Given the description of an element on the screen output the (x, y) to click on. 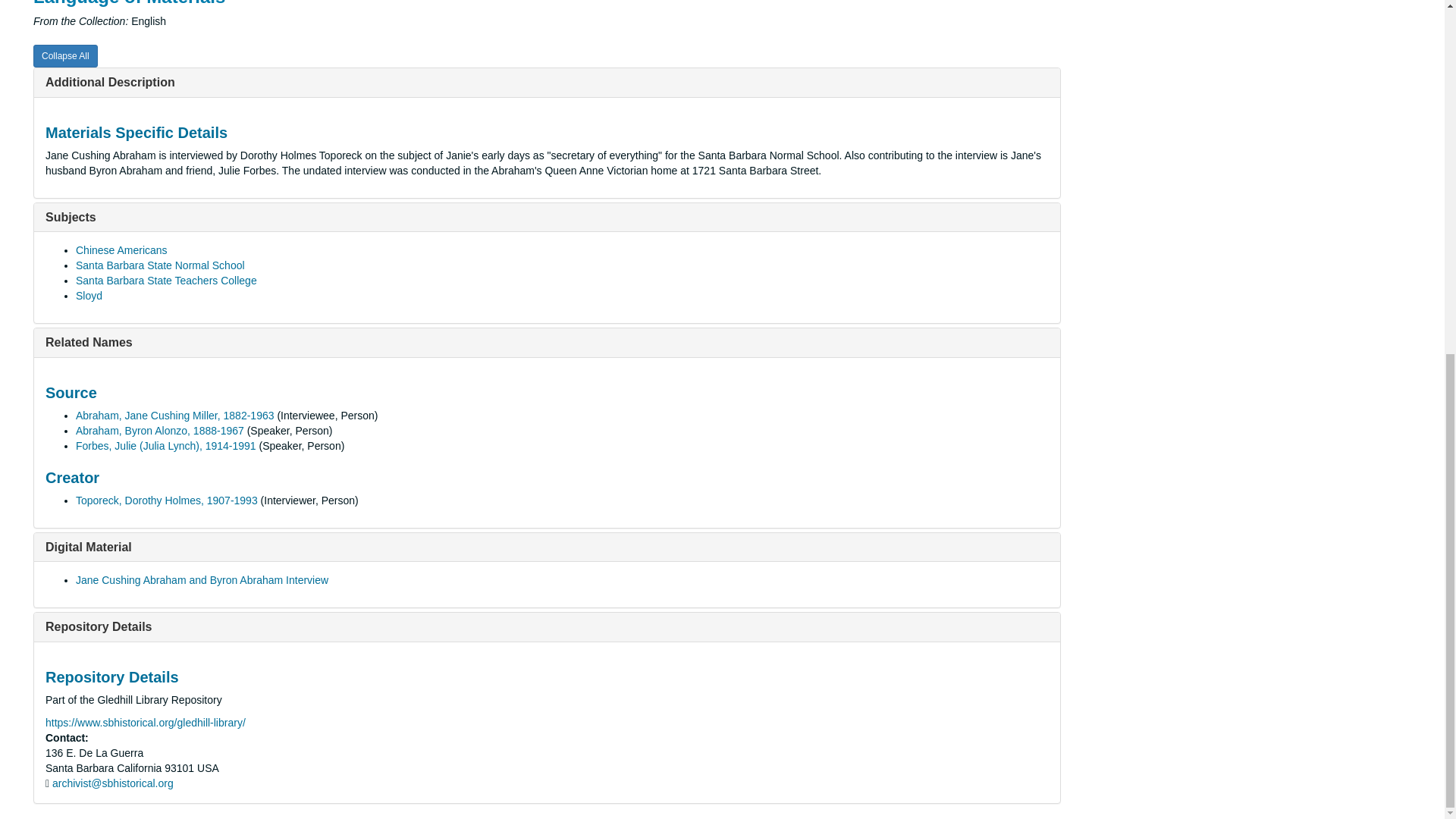
Collapse All (65, 56)
Additional Description (109, 82)
Toporeck, Dorothy Holmes, 1907-1993 (166, 500)
Abraham, Jane Cushing Miller, 1882-1963 (175, 415)
Subjects (70, 216)
Digital Material (88, 546)
Repository Details (98, 626)
Chinese Americans (121, 250)
Sloyd (88, 295)
Related Names (88, 341)
